Given the description of an element on the screen output the (x, y) to click on. 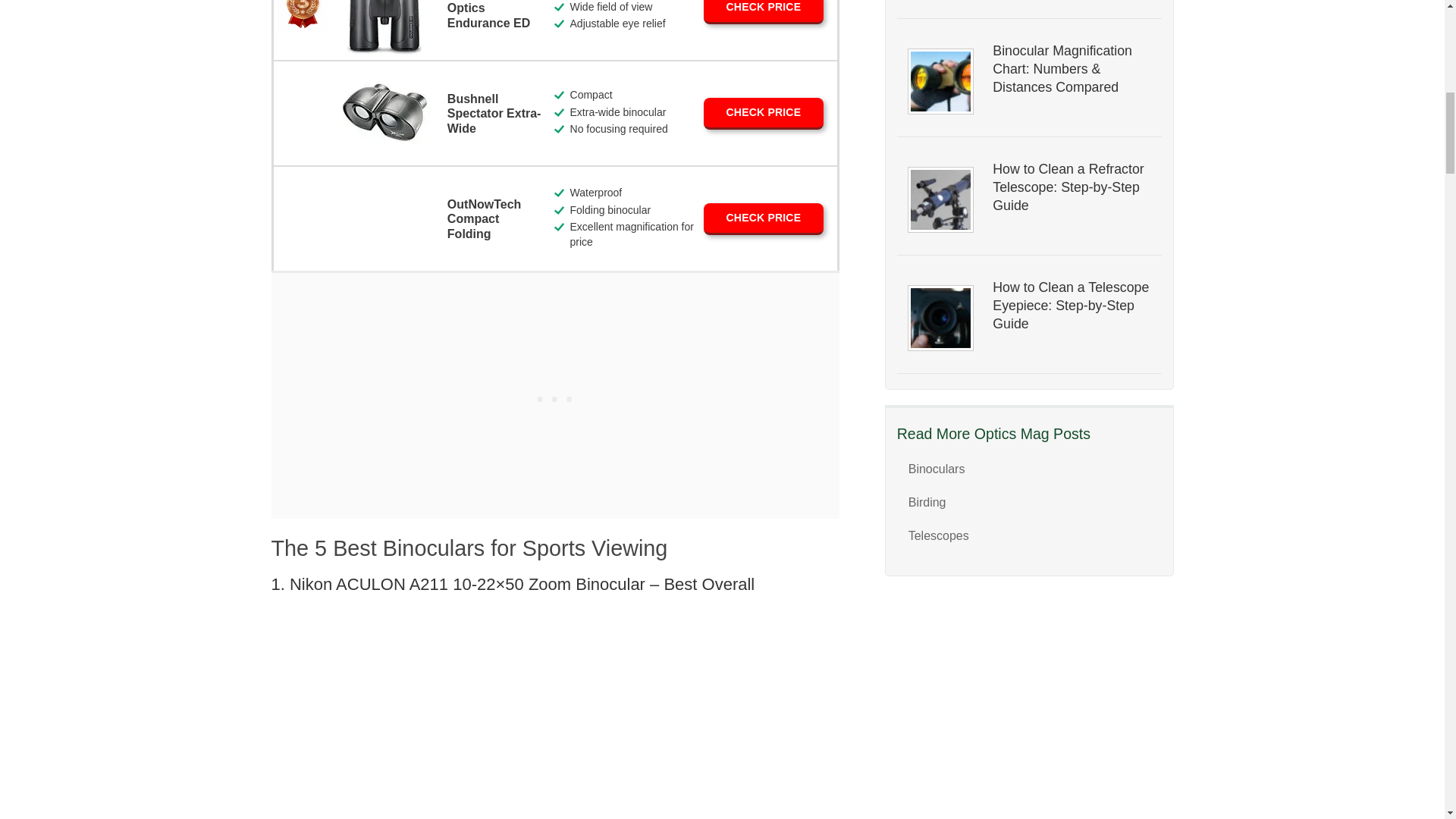
CHECK PRICE (763, 219)
CHECK PRICE (763, 12)
Birding (927, 502)
CHECK PRICE (763, 113)
Binoculars (936, 468)
How to Clean a Refractor Telescope: Step-by-Step Guide (1071, 186)
Telescopes (938, 535)
How to Clean a Telescope Eyepiece: Step-by-Step Guide (1071, 305)
